Given the description of an element on the screen output the (x, y) to click on. 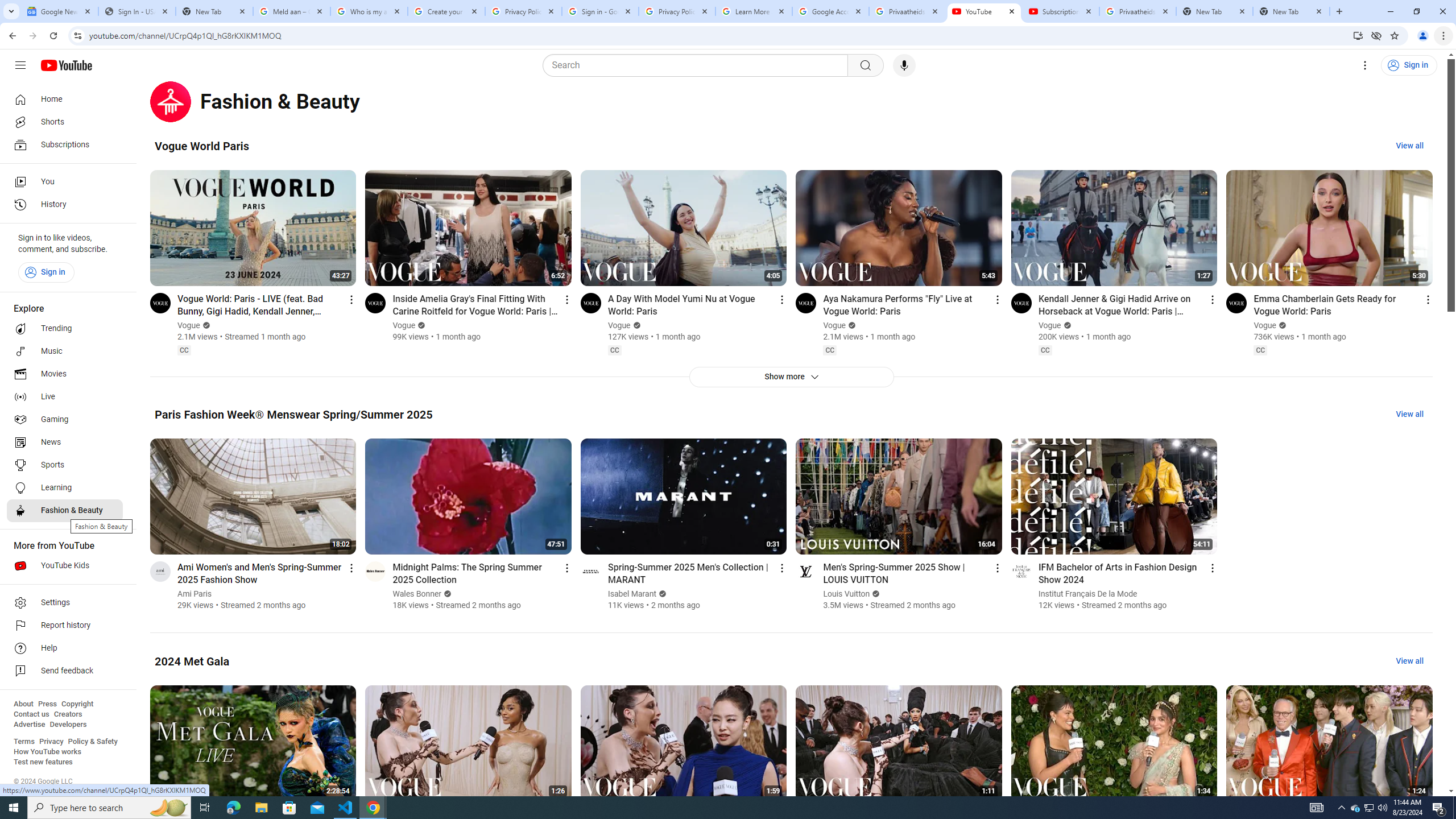
Fashion & Beauty (64, 510)
Vogue (1264, 325)
Help (64, 648)
Music (64, 350)
Creators (67, 714)
News (64, 441)
Sign In - USA TODAY (136, 11)
Learning (64, 487)
